Given the description of an element on the screen output the (x, y) to click on. 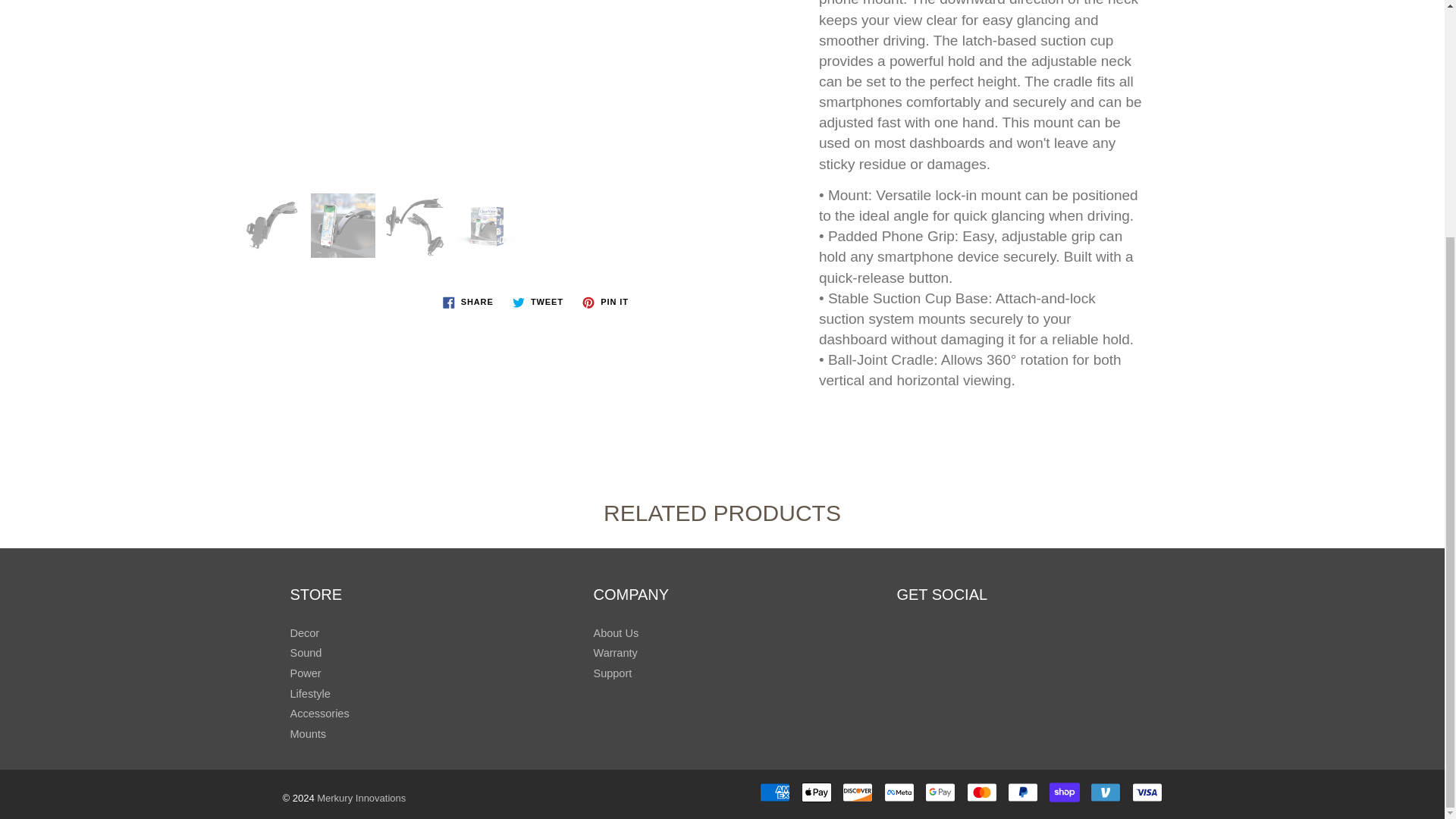
Apple Pay (816, 792)
Dashboard Phone Mount with Sticky (270, 225)
PayPal (1022, 792)
Google Pay (939, 792)
Venmo (1105, 792)
Dashboard Phone Mount with Sticky (414, 225)
Meta Pay (898, 792)
Dashboard Phone Mount with Sticky (486, 225)
Mastercard (981, 792)
Tweet on Twitter (537, 301)
Share on Facebook (467, 301)
Visa (1146, 792)
American Express (775, 792)
Dashboard Phone Mount with Sticky (343, 225)
Discover (857, 792)
